Given the description of an element on the screen output the (x, y) to click on. 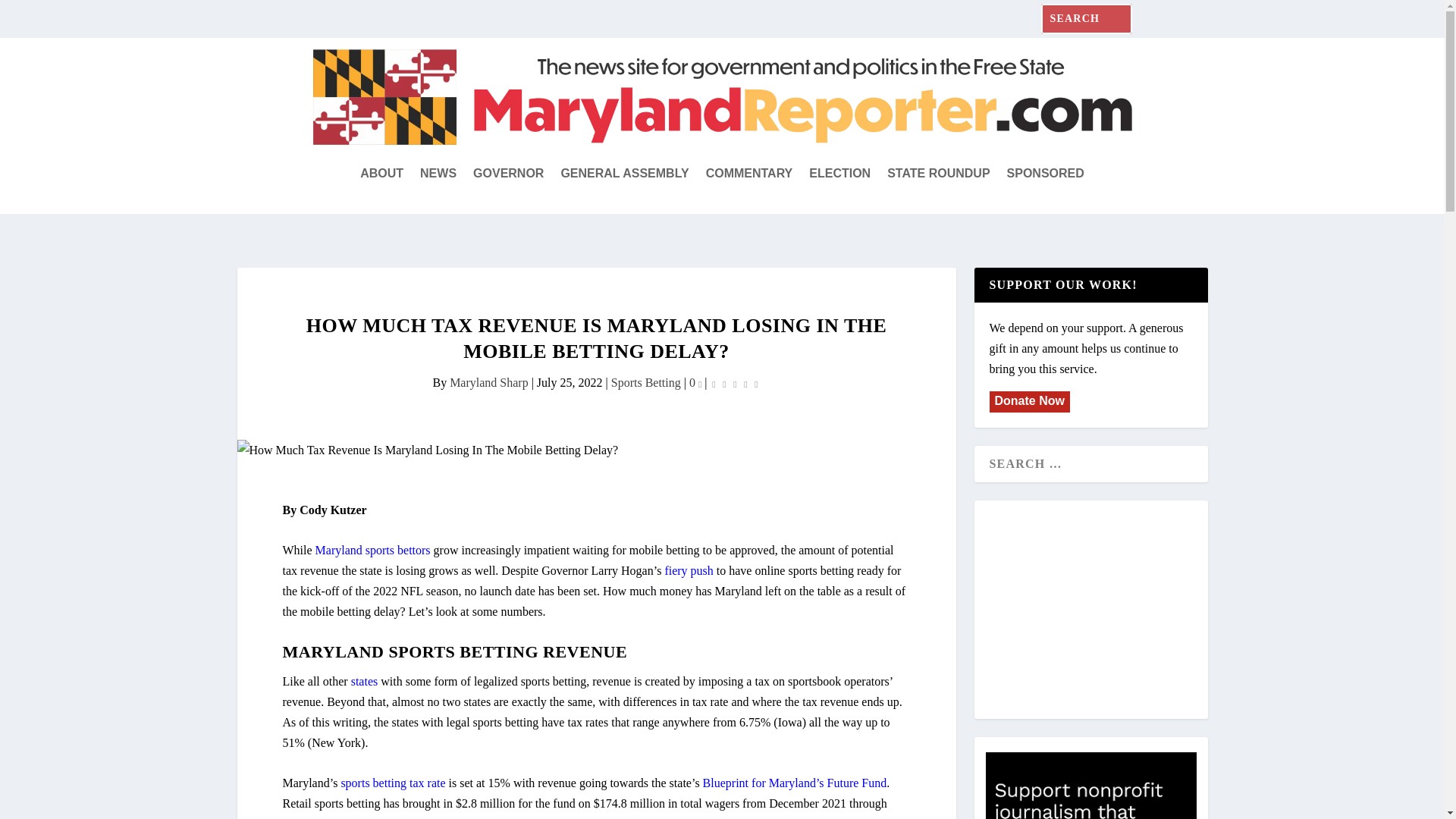
COMMENTARY (749, 173)
ELECTION (839, 173)
0 (694, 382)
Maryland sports bettors (372, 549)
SPONSORED (1045, 173)
Sports Betting (646, 382)
Posts by Maryland Sharp (488, 382)
states (364, 680)
Search (29, 15)
sports betting tax rate (392, 782)
